Given the description of an element on the screen output the (x, y) to click on. 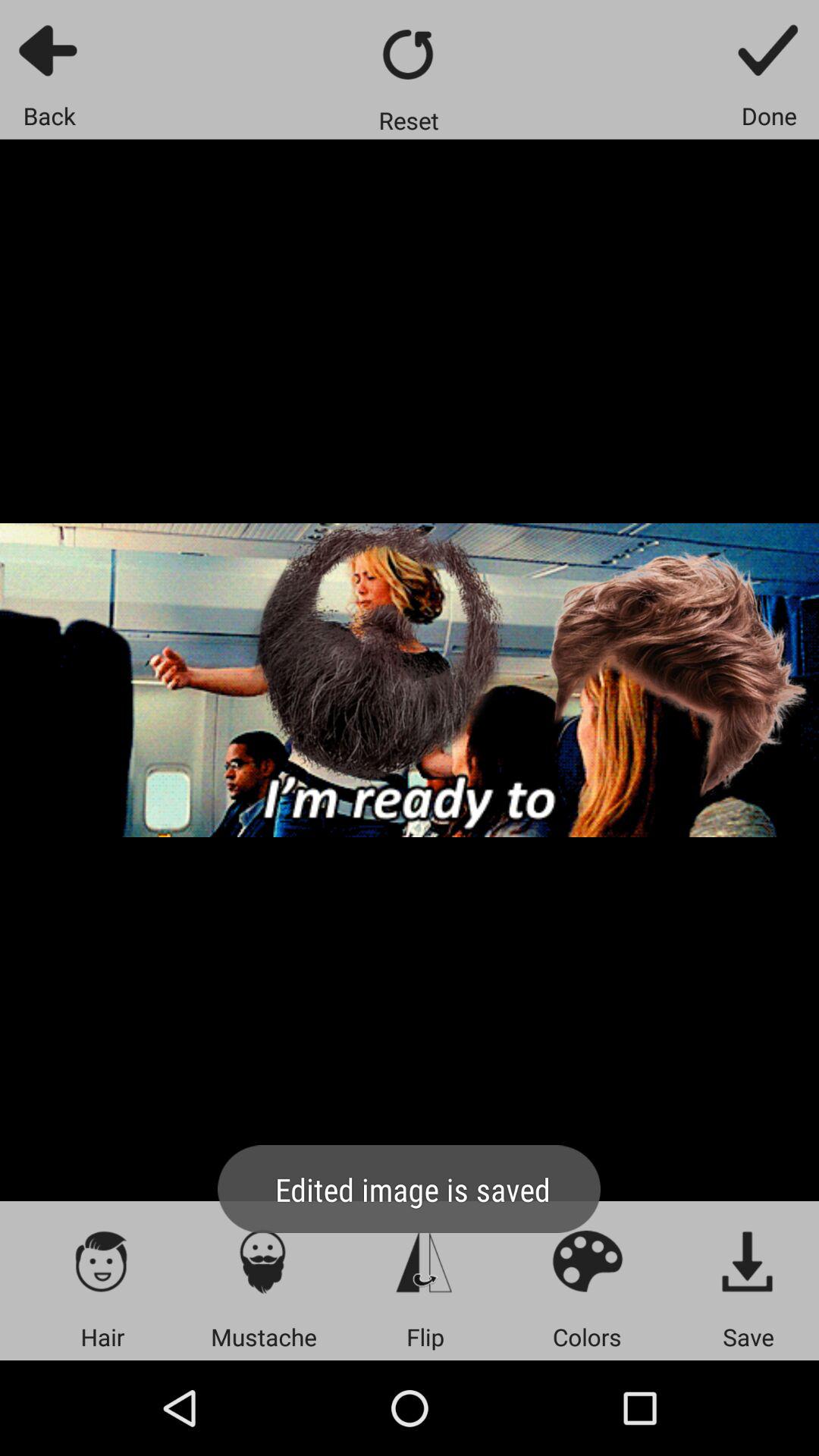
mustache (263, 1260)
